Given the description of an element on the screen output the (x, y) to click on. 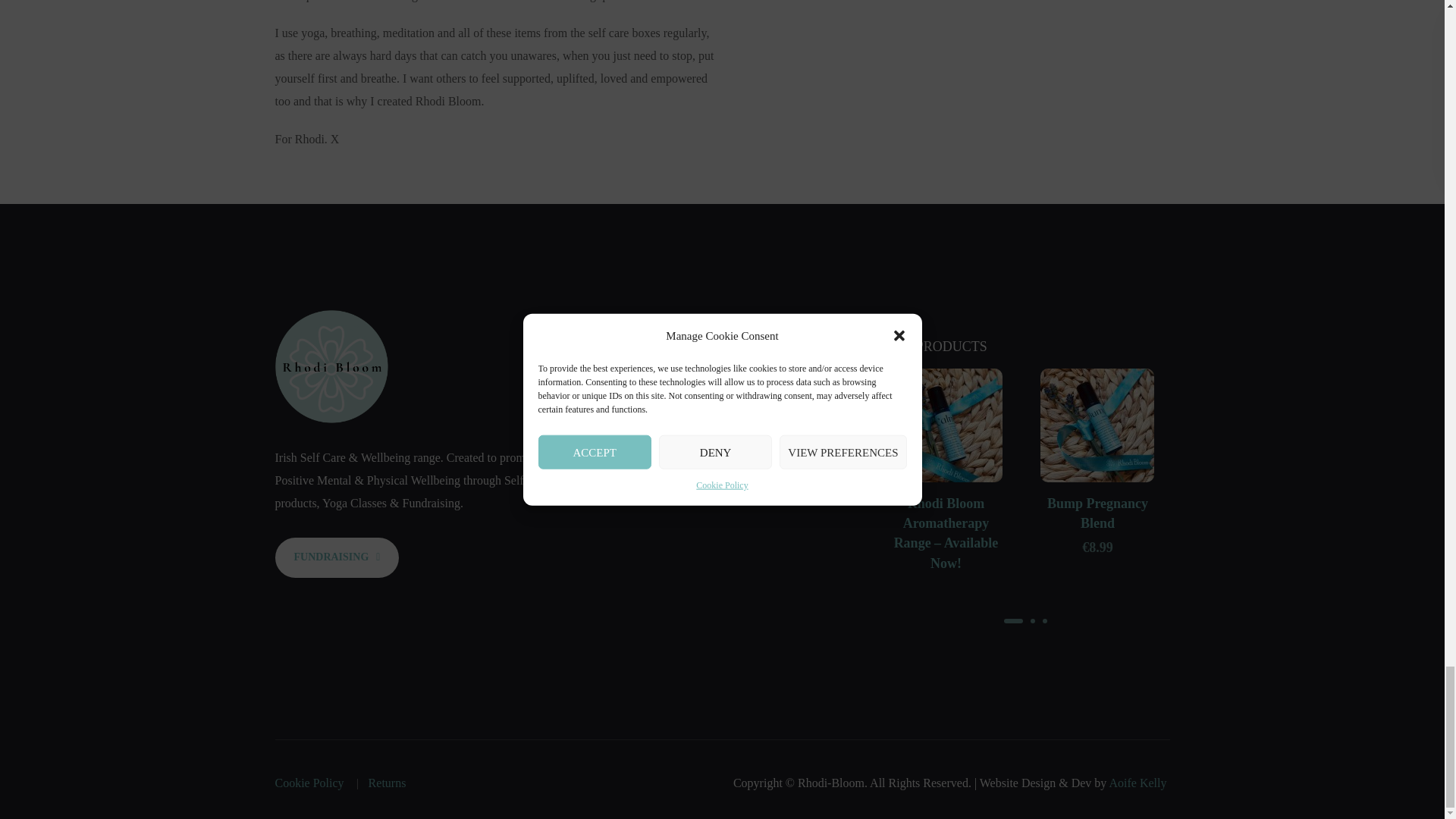
Facebook (592, 460)
Instagram (628, 460)
